Given the description of an element on the screen output the (x, y) to click on. 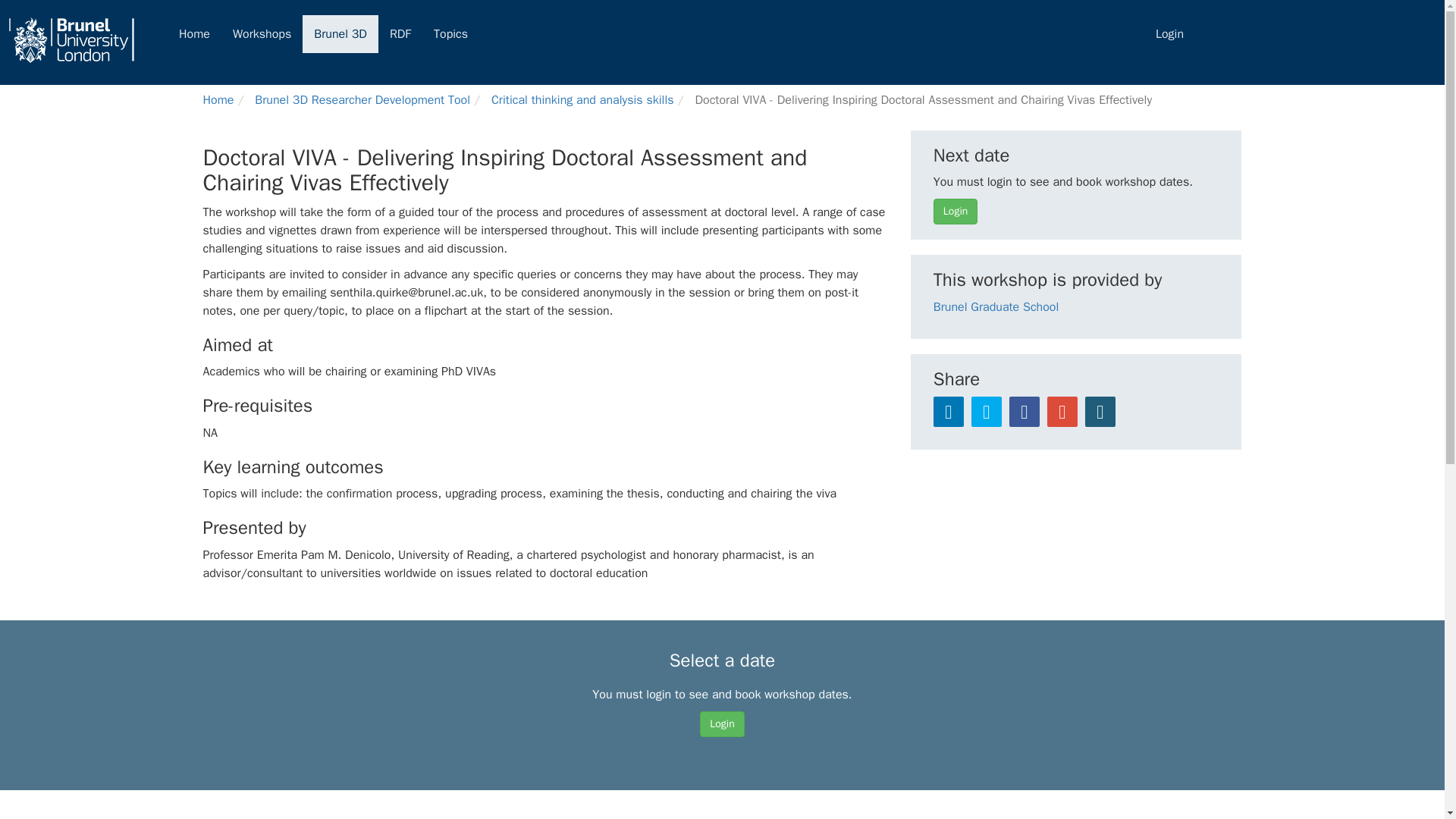
Brunel 3D Researcher Development Tool (362, 99)
RDF (400, 34)
Home (194, 34)
Login (954, 211)
Login (1169, 34)
Brunel Graduate School (995, 306)
Brunel 3D (340, 34)
Topics (450, 34)
Login (722, 724)
Critical thinking and analysis skills (583, 99)
Workshops (261, 34)
Home (218, 99)
